Given the description of an element on the screen output the (x, y) to click on. 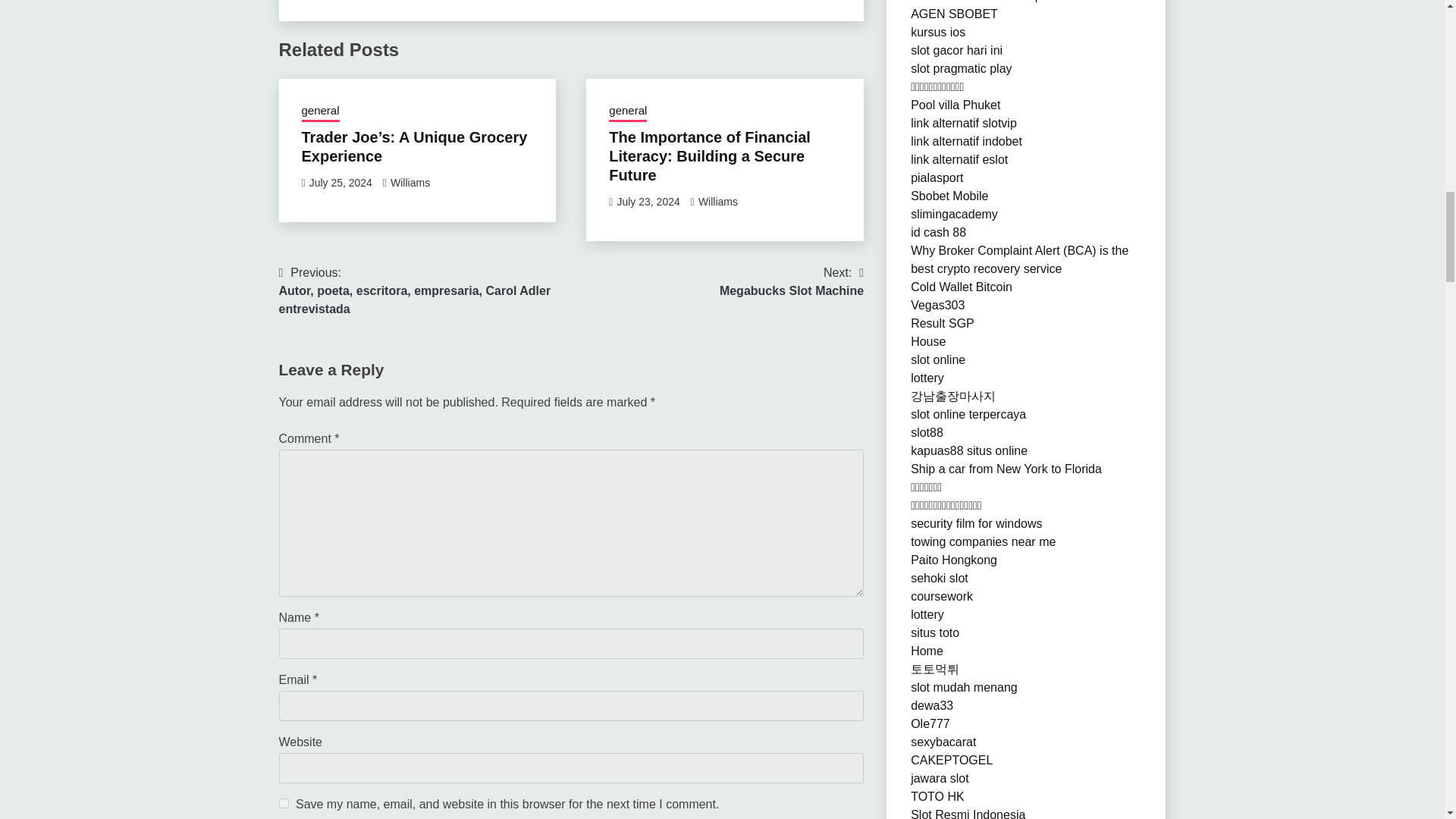
Williams (718, 201)
July 25, 2024 (340, 182)
July 23, 2024 (647, 201)
yes (283, 802)
Williams (409, 182)
general (791, 281)
general (320, 112)
